Given the description of an element on the screen output the (x, y) to click on. 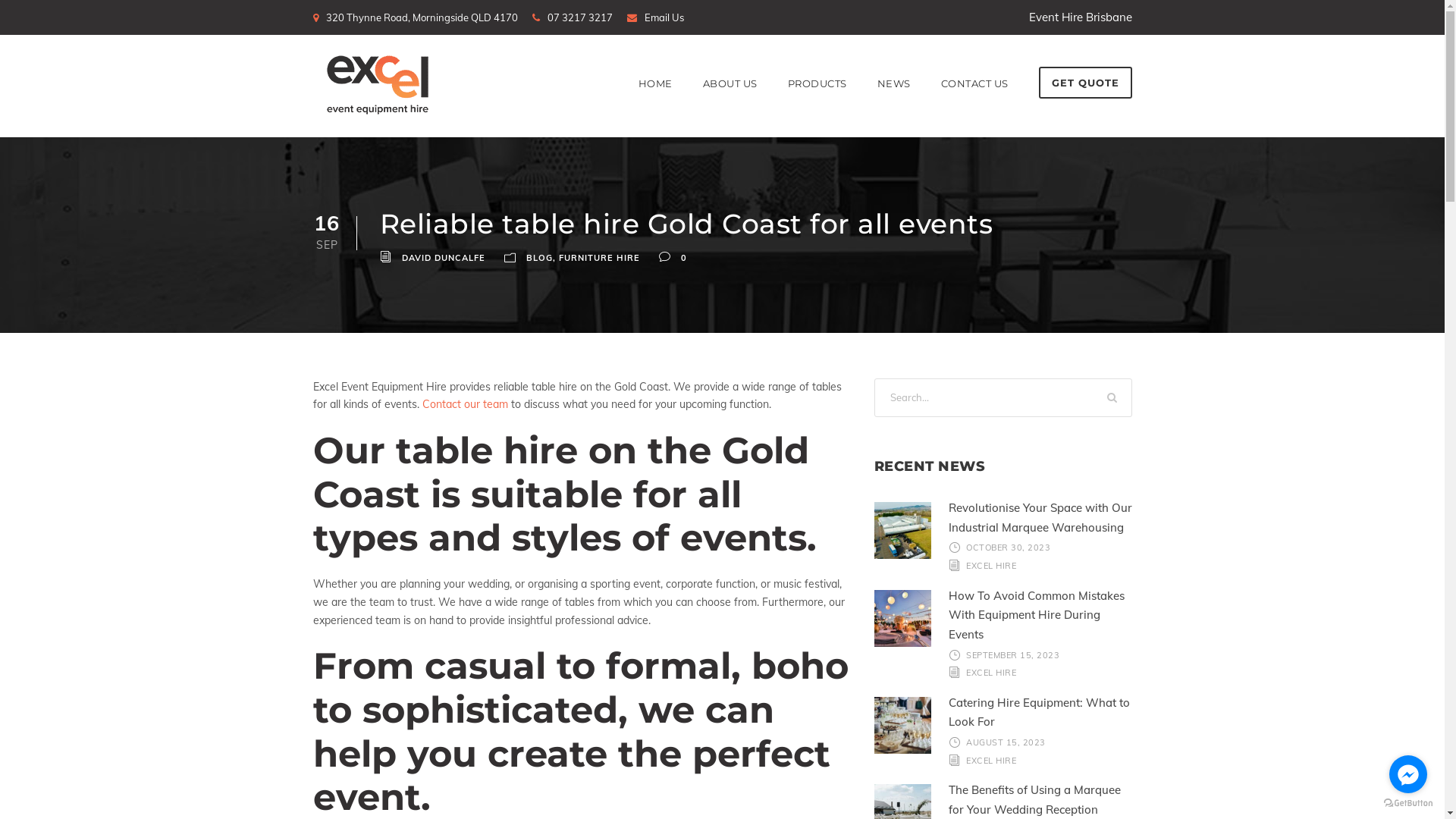
EXCEL HIRE Element type: text (991, 565)
AUGUST 15, 2023 Element type: text (1005, 742)
Email Us Element type: text (664, 17)
DAVID DUNCALFE Element type: text (443, 257)
PRODUCTS Element type: text (816, 105)
Search Element type: text (1112, 397)
Contact our team Element type: text (464, 404)
GET QUOTE Element type: text (1085, 82)
EXCEL HIRE Element type: text (991, 672)
BLOG Element type: text (539, 257)
Catering Hire Equipment What to Look For Element type: hover (902, 724)
Industrial Marquee warehousing Element type: hover (902, 530)
FURNITURE HIRE Element type: text (598, 257)
EXCEL HIRE Element type: text (991, 760)
The Benefits of Using a Marquee for Your Wedding Reception Element type: text (1034, 799)
Excel Event Equipment Hire Element type: hover (376, 85)
OCTOBER 30, 2023 Element type: text (1008, 547)
07 3217 3217 Element type: text (579, 17)
ABOUT US Element type: text (729, 105)
CONTACT US Element type: text (973, 105)
NEWS Element type: text (893, 105)
SEPTEMBER 15, 2023 Element type: text (1012, 654)
HOME Element type: text (655, 105)
Catering Hire Equipment: What to Look For Element type: text (1038, 712)
